Given the description of an element on the screen output the (x, y) to click on. 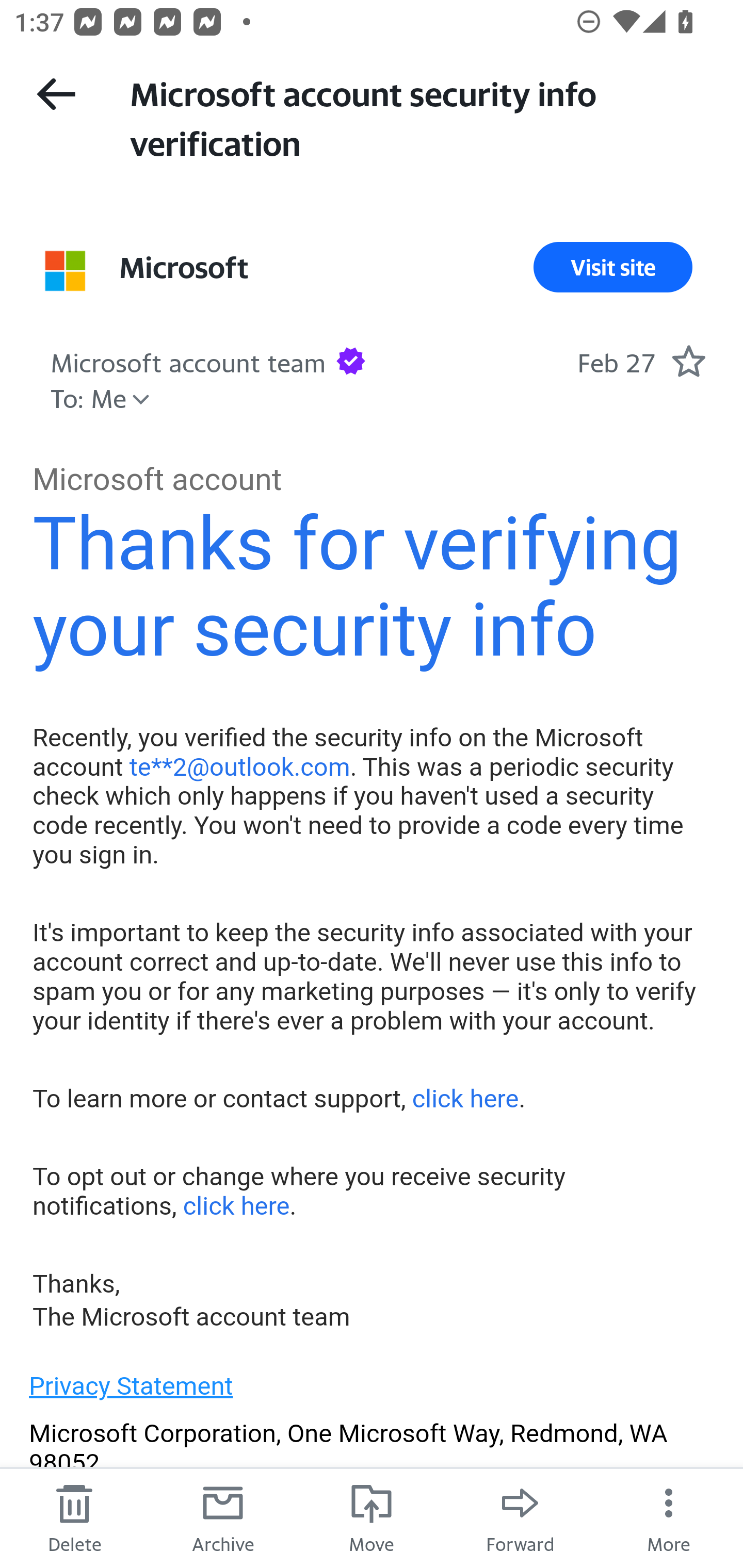
Back (55, 93)
Microsoft account security info verification (418, 116)
View all messages from sender (64, 270)
Visit site Visit Site Link (612, 267)
Microsoft Sender Microsoft (183, 266)
Mark as starred. (688, 361)
te**2@outlook.com (239, 766)
click here (464, 1097)
click here (235, 1206)
Privacy Statement (131, 1384)
Delete (74, 1517)
Archive (222, 1517)
Move (371, 1517)
Forward (519, 1517)
More (668, 1517)
